Given the description of an element on the screen output the (x, y) to click on. 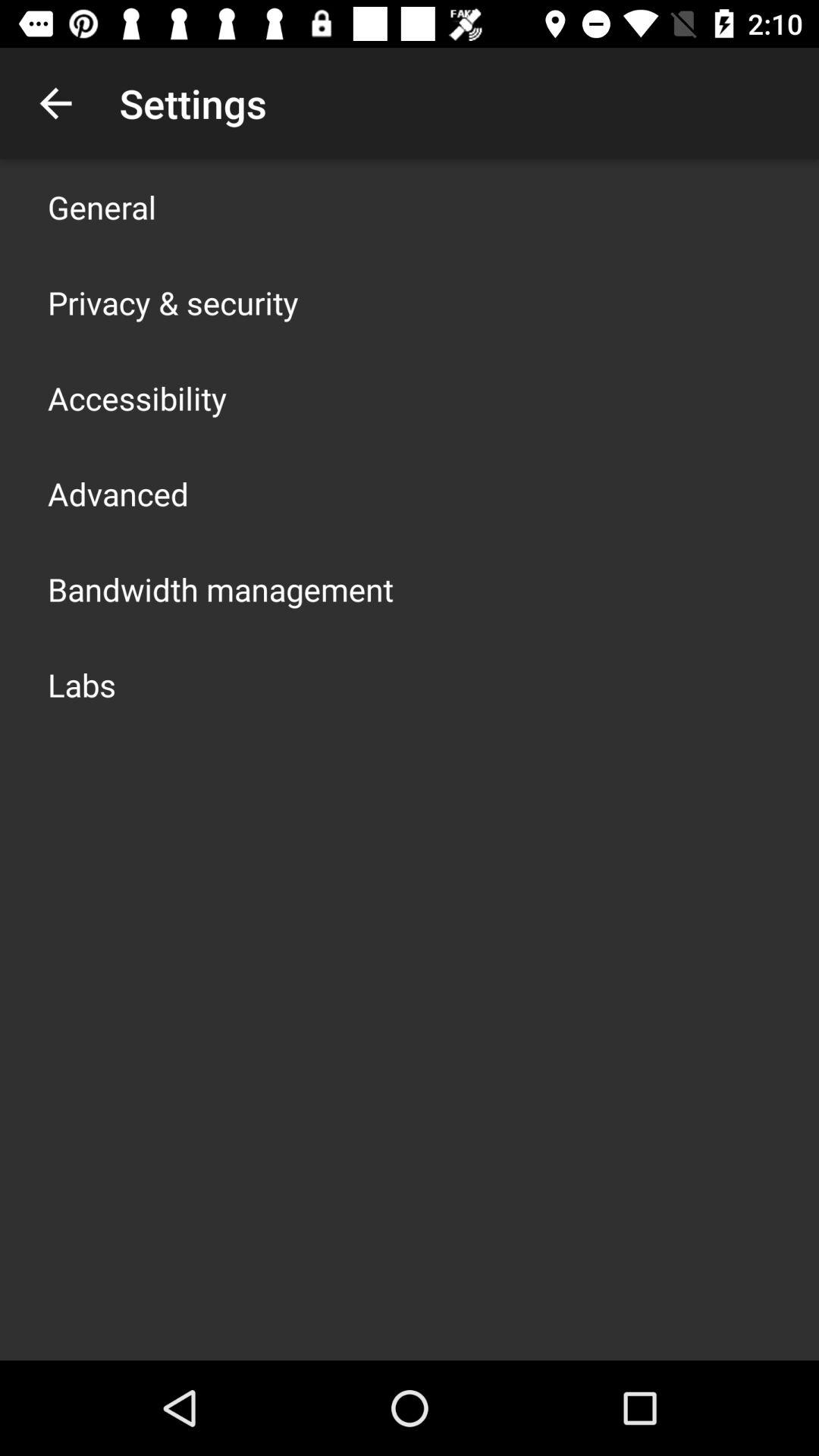
jump until privacy & security item (172, 302)
